Given the description of an element on the screen output the (x, y) to click on. 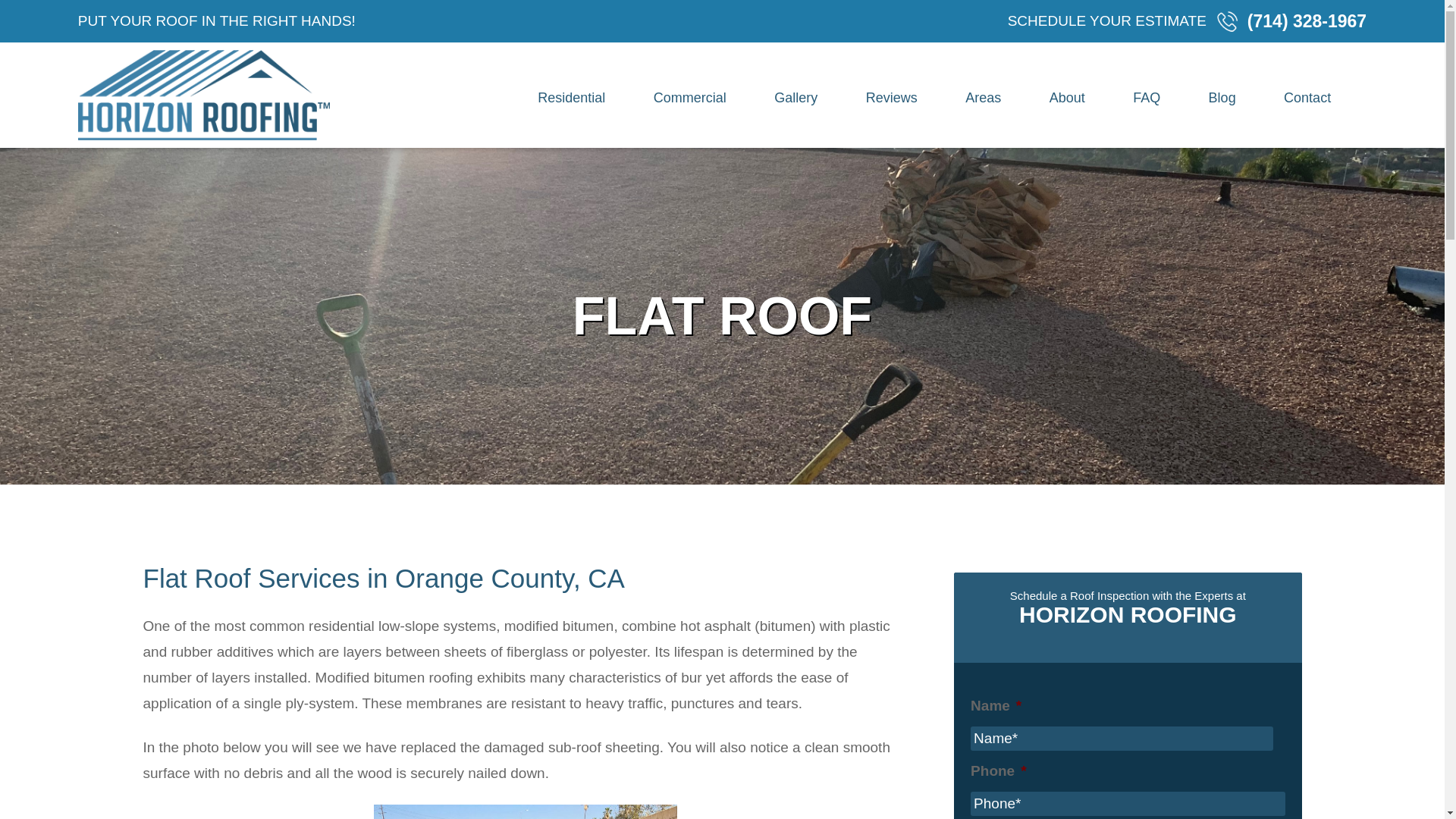
Residential (571, 97)
Blog (1221, 97)
About (1067, 97)
FAQ (1146, 97)
Reviews (891, 97)
Areas (983, 97)
Gallery (796, 97)
Commercial (690, 97)
Contact (1307, 97)
Horizon Roofing (204, 94)
